Given the description of an element on the screen output the (x, y) to click on. 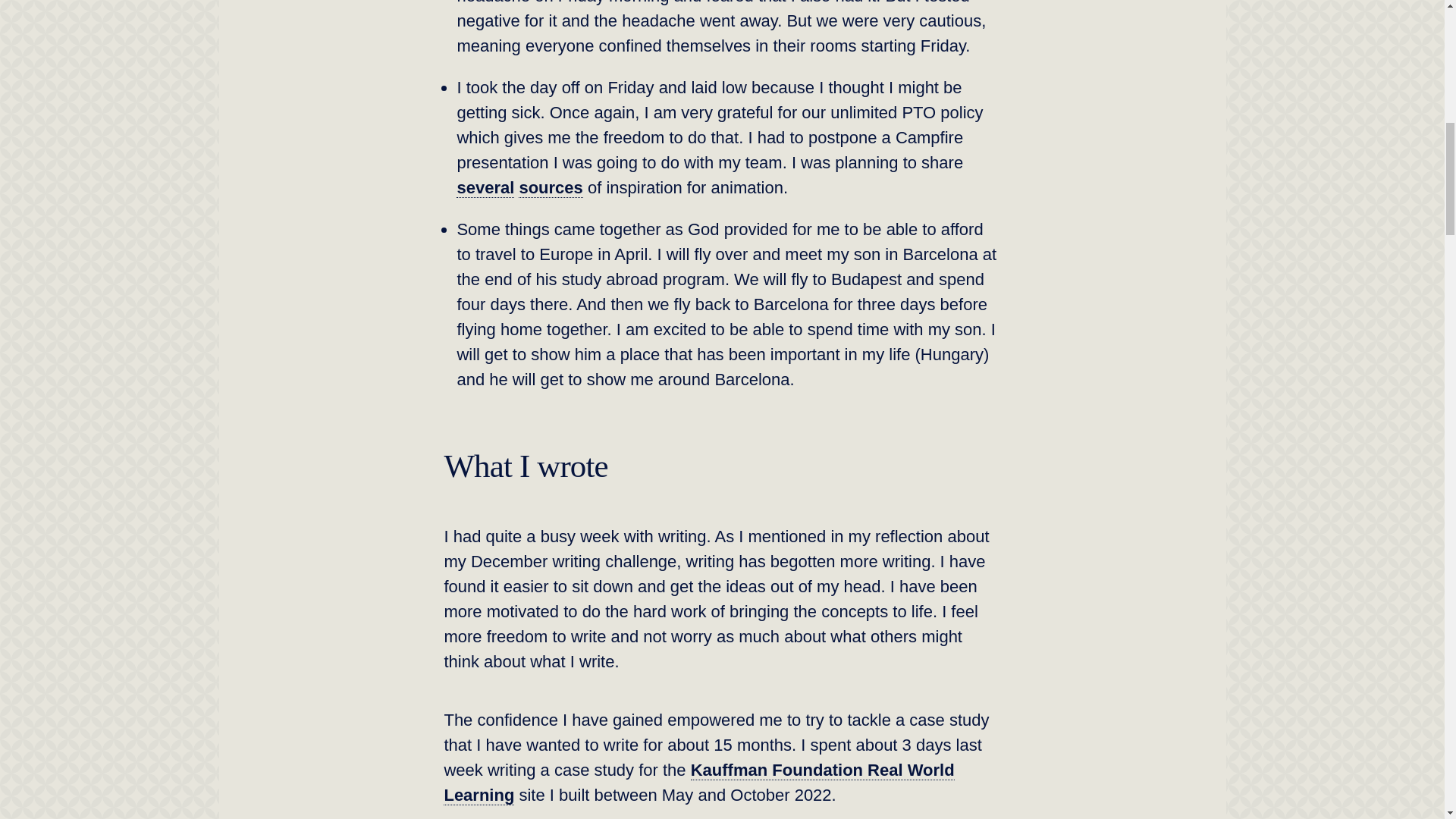
Kauffman Foundation Real World Learning (698, 782)
sources (550, 188)
several (485, 188)
